Given the description of an element on the screen output the (x, y) to click on. 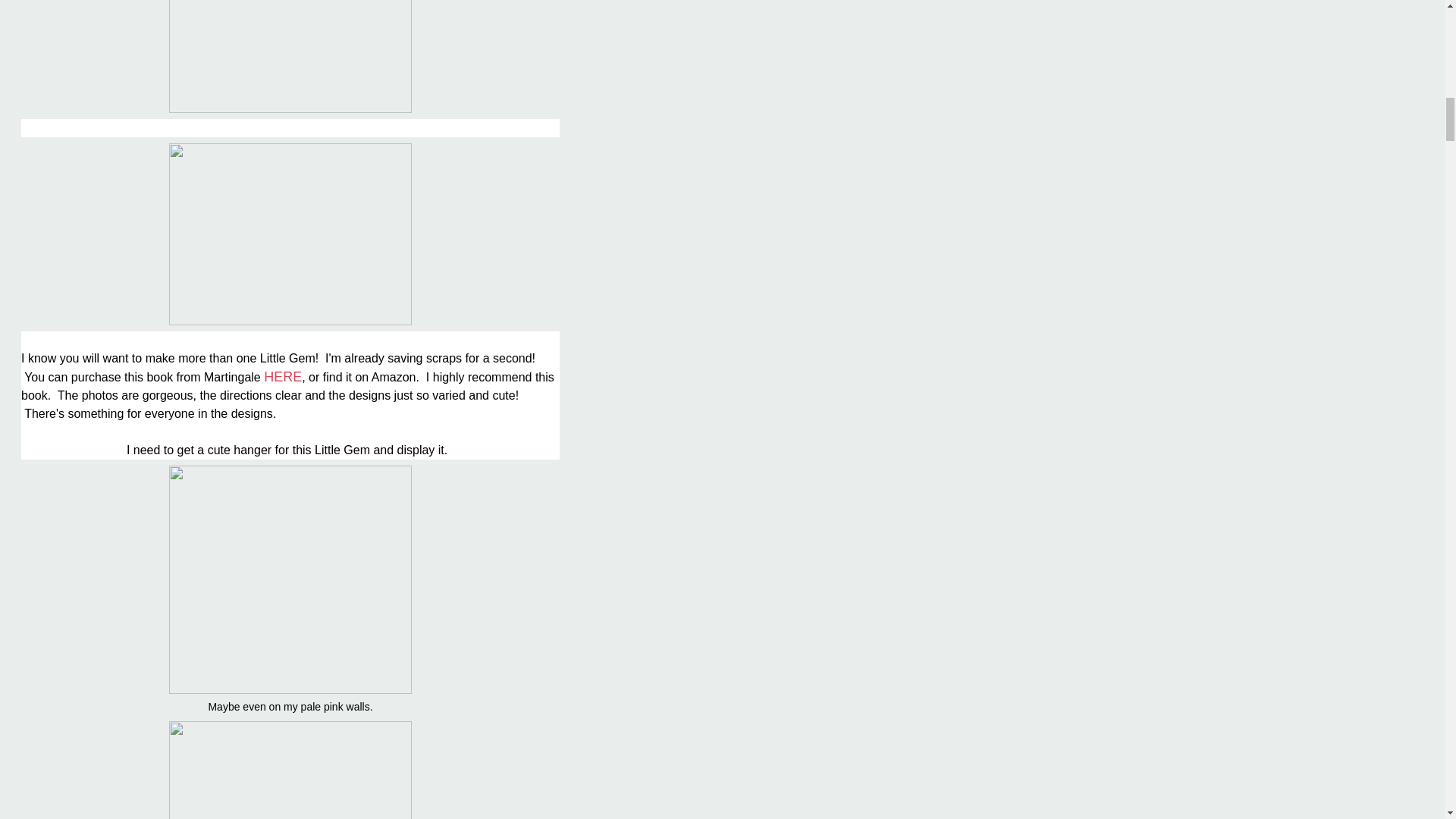
HERE (282, 376)
